Given the description of an element on the screen output the (x, y) to click on. 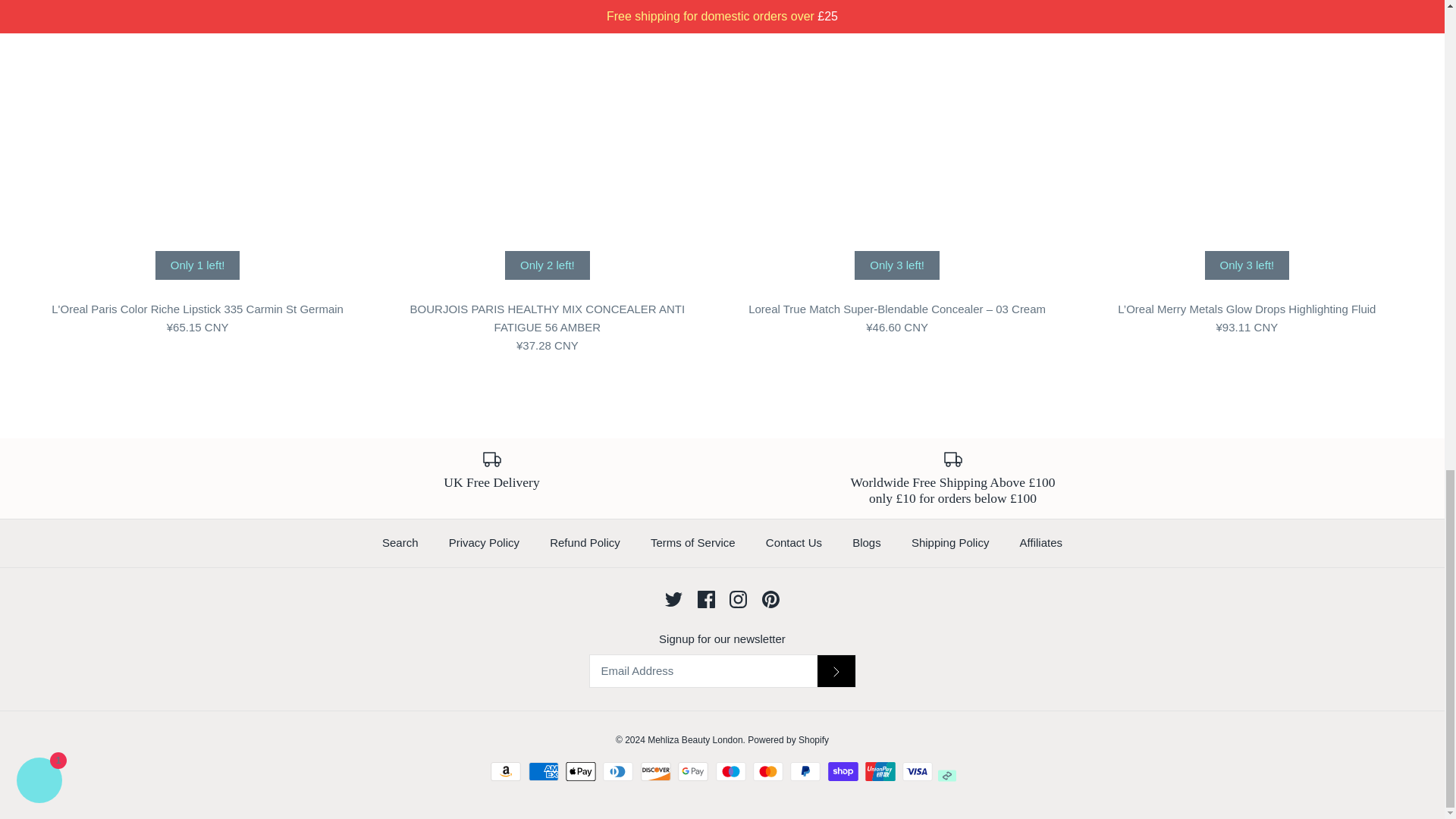
Apple Pay (580, 771)
Twitter (673, 599)
Instagram (737, 599)
Pinterest (769, 599)
Twitter (673, 599)
Facebook (705, 599)
Amazon (505, 771)
Pinterest (769, 599)
American Express (543, 771)
Facebook (705, 599)
Diners Club (617, 771)
Instagram (737, 599)
